Given the description of an element on the screen output the (x, y) to click on. 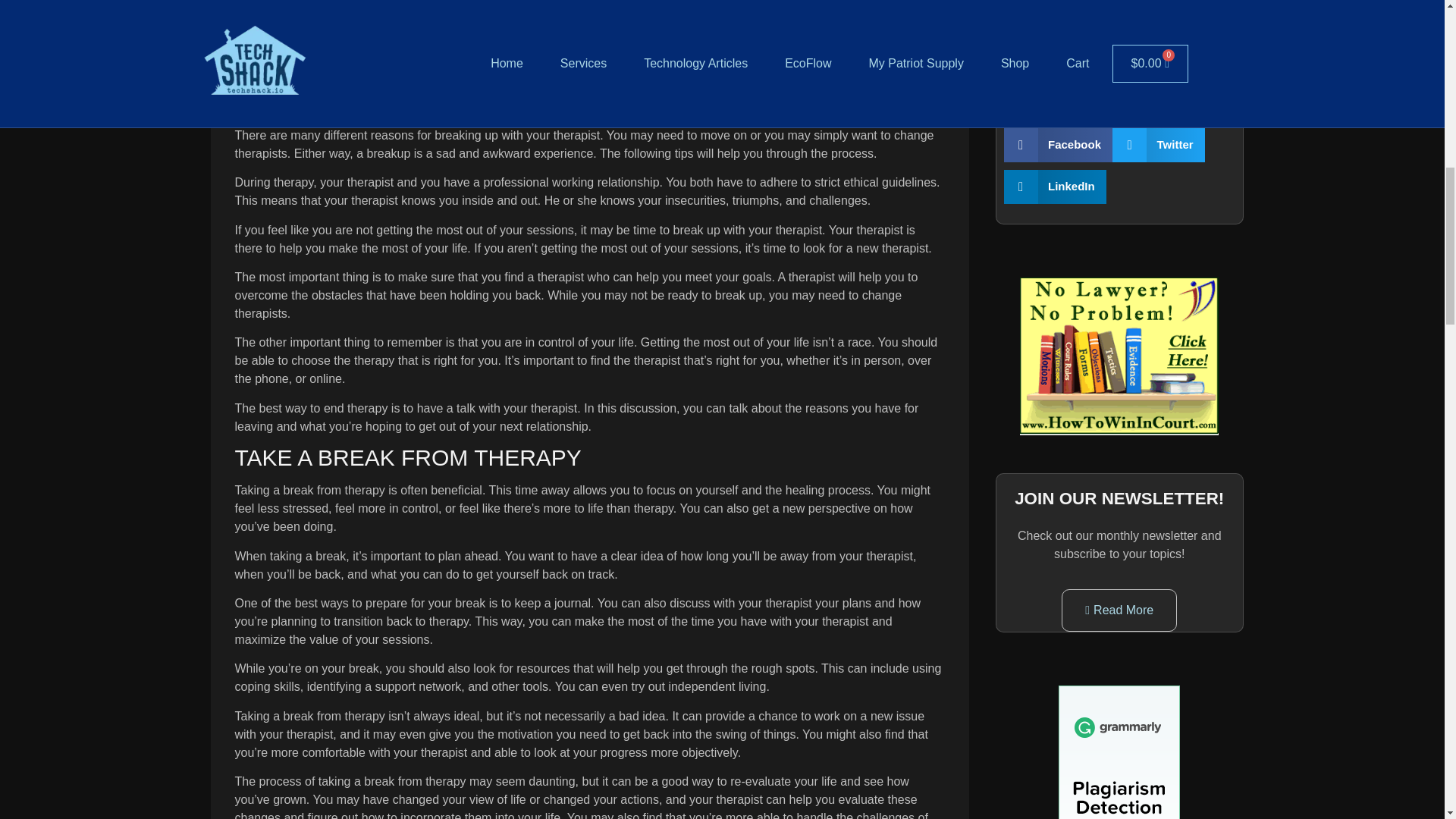
Read More (1118, 609)
